Given the description of an element on the screen output the (x, y) to click on. 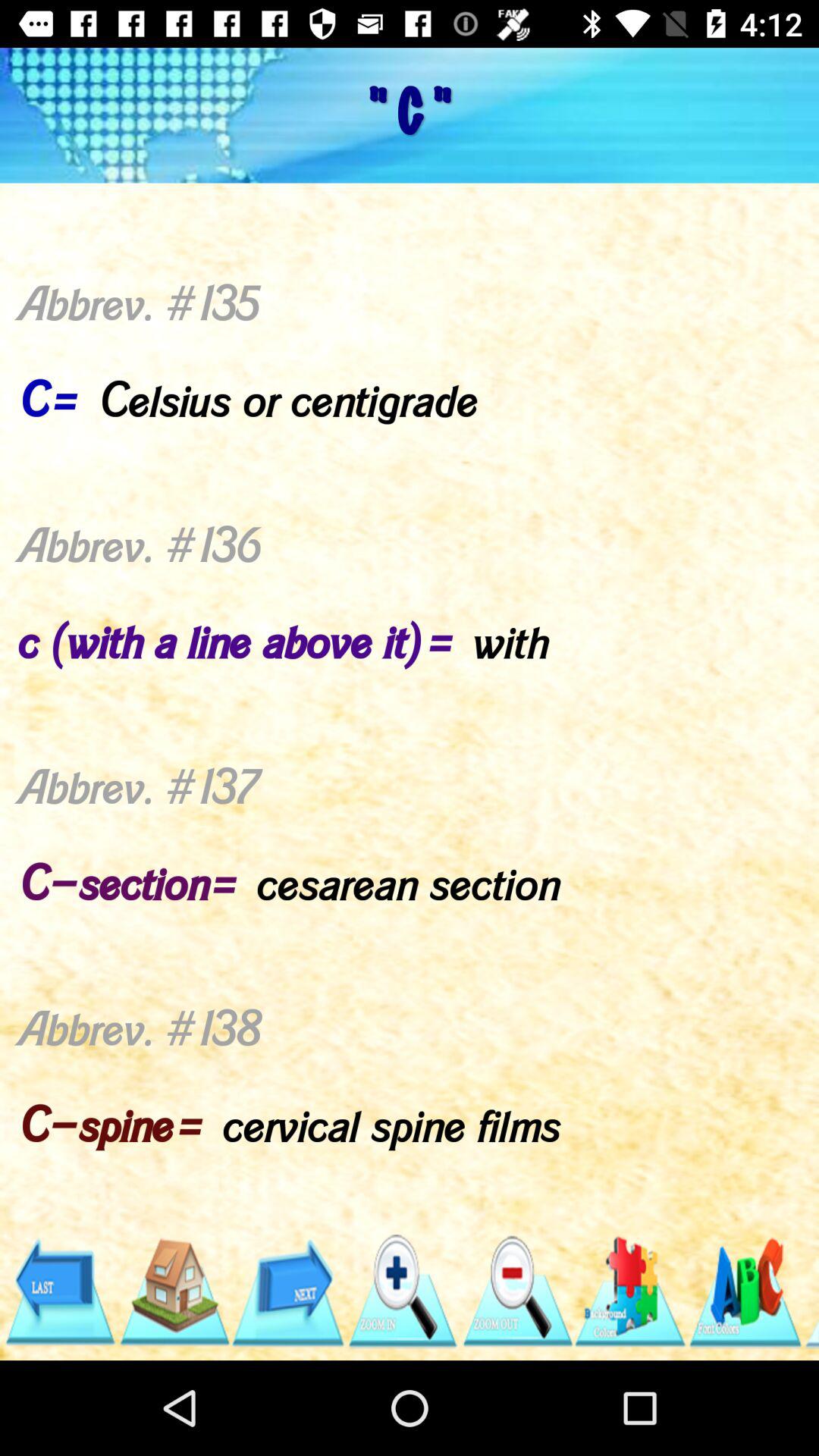
choose item below the abbrev 	135	 	c	 icon (810, 1291)
